Given the description of an element on the screen output the (x, y) to click on. 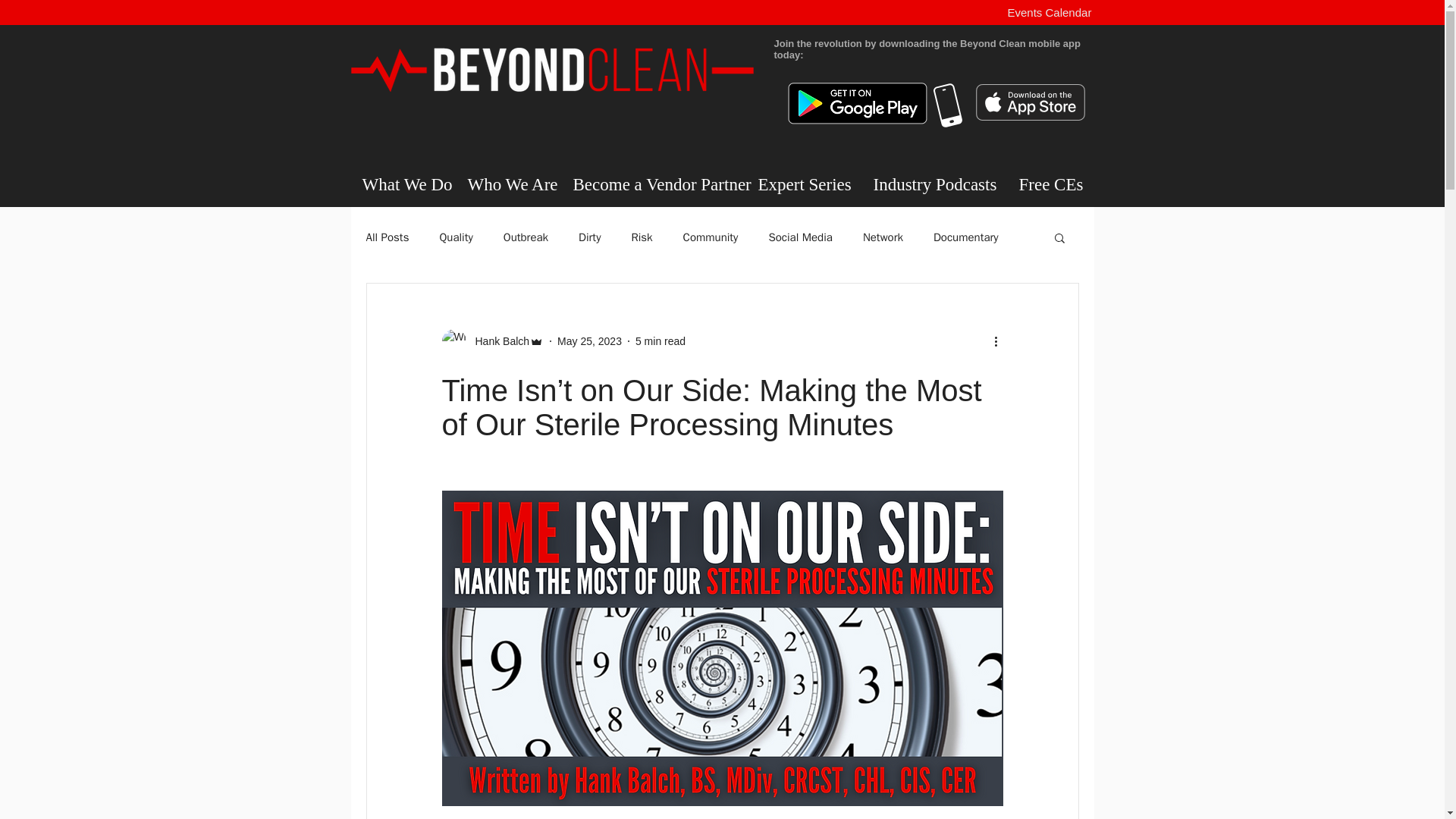
Quality (455, 237)
5 min read (659, 340)
Expert Series (803, 184)
Events Calendar (1048, 12)
Free CEs (1049, 184)
Outbreak (525, 237)
Risk (641, 237)
Hank Balch (497, 341)
Become a Vendor Partner (652, 184)
Documentary (965, 237)
May 25, 2023 (589, 340)
Social Media (799, 237)
Community (710, 237)
All Posts (387, 237)
Network (882, 237)
